Given the description of an element on the screen output the (x, y) to click on. 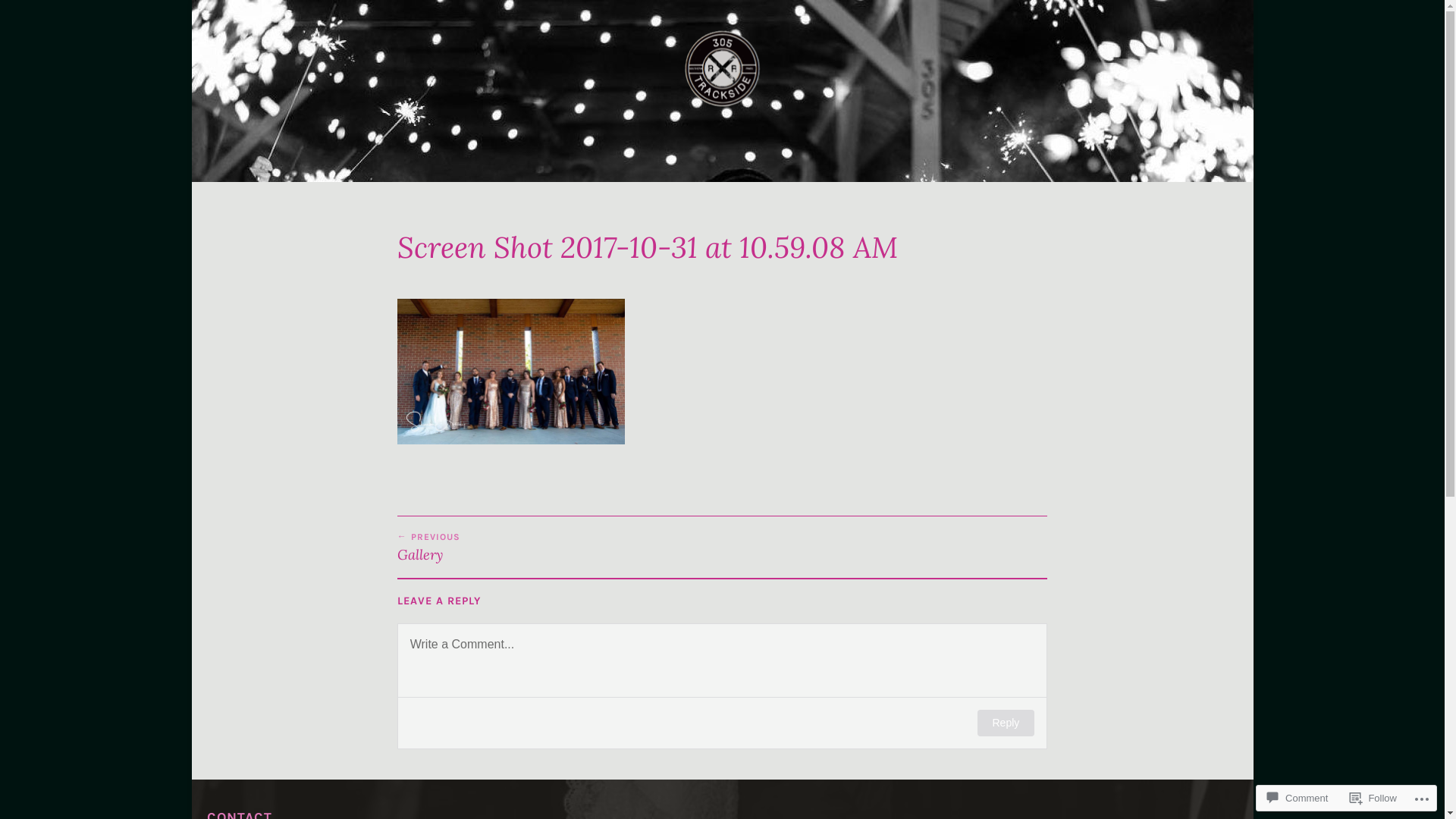
PREVIOUS
Gallery Element type: text (559, 546)
305 TRACKSIDE Element type: text (768, 146)
Comment Element type: text (1297, 797)
Follow Element type: text (1372, 797)
Reply Element type: text (1005, 722)
